Given the description of an element on the screen output the (x, y) to click on. 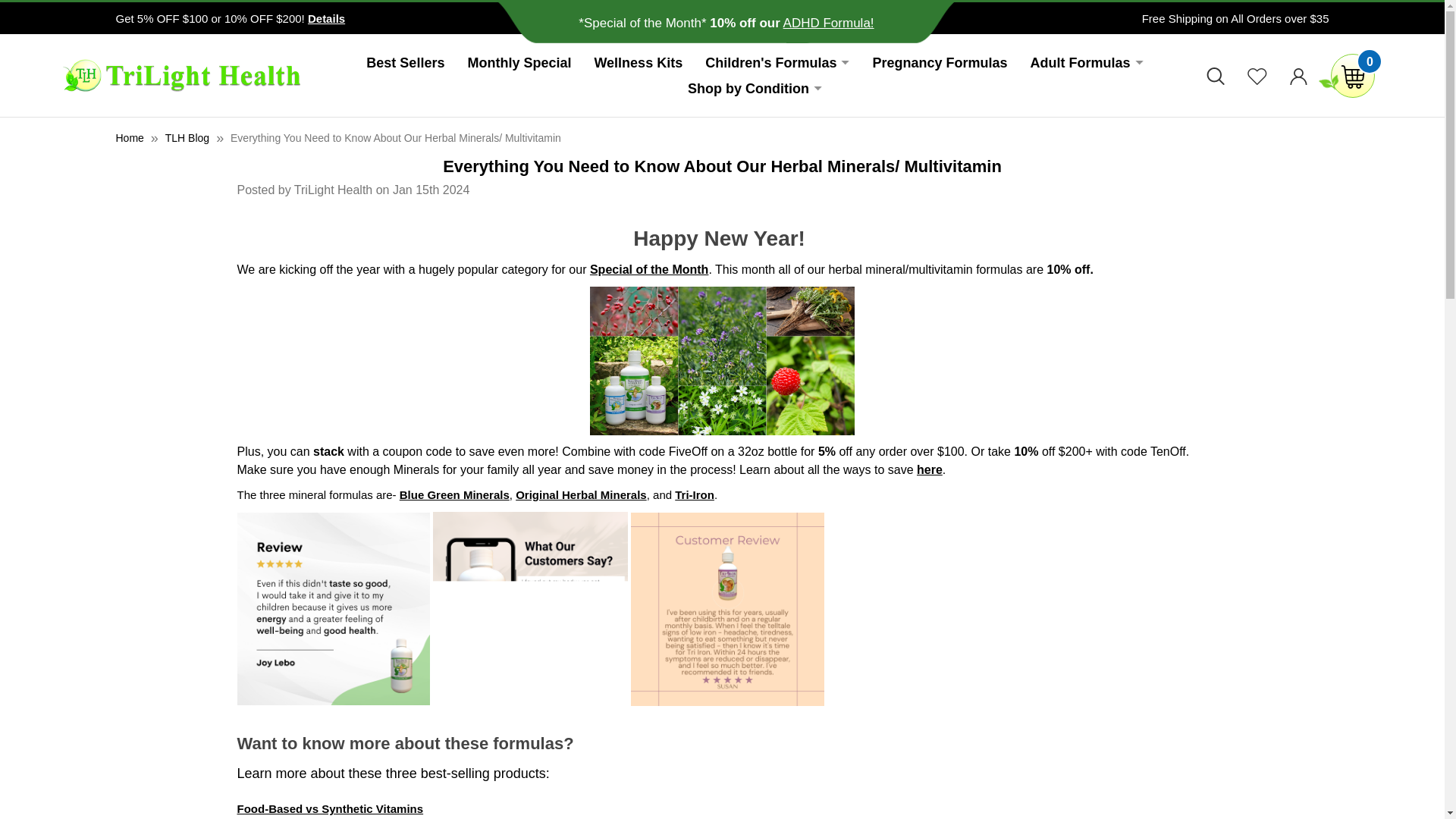
ADHD Formula! (829, 22)
Blue Green Minerals Review (332, 608)
Best Sellers (405, 62)
Wellness Kits (638, 62)
Monthly Special (518, 62)
Details (326, 18)
Tri-Iron Review (727, 608)
Original Herbal Minerals Review (529, 608)
Adult Formulas (1086, 62)
Pregnancy Formulas (938, 62)
Children's Formulas (777, 62)
